Given the description of an element on the screen output the (x, y) to click on. 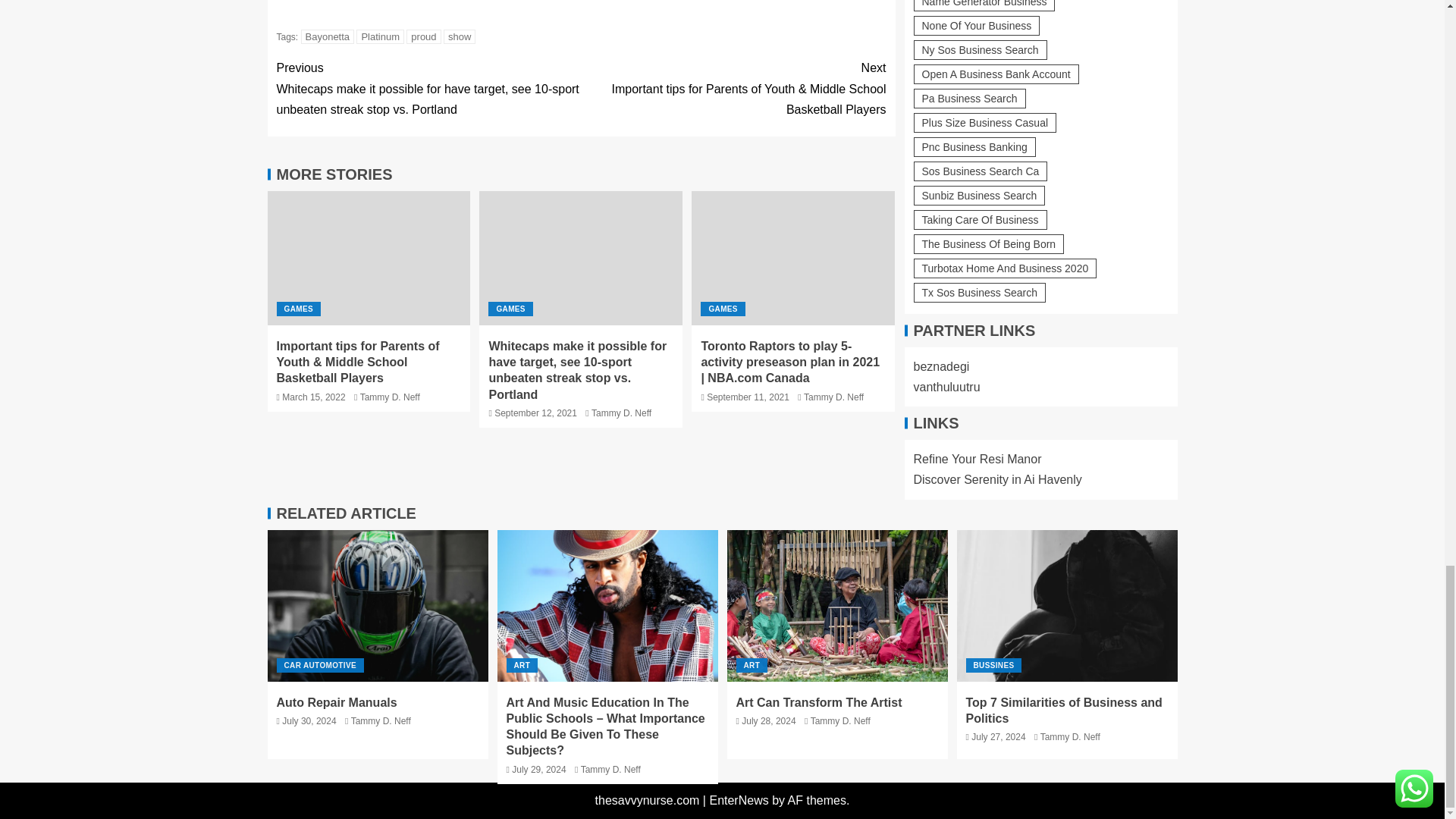
GAMES (298, 309)
Tammy D. Neff (620, 412)
GAMES (509, 309)
Bayonetta (328, 36)
GAMES (722, 309)
Top 7 Similarities of Business and Politics (1066, 605)
proud (423, 36)
Tammy D. Neff (389, 397)
show (460, 36)
Platinum (380, 36)
Auto Repair Manuals (376, 605)
Art Can Transform The Artist (836, 605)
